Given the description of an element on the screen output the (x, y) to click on. 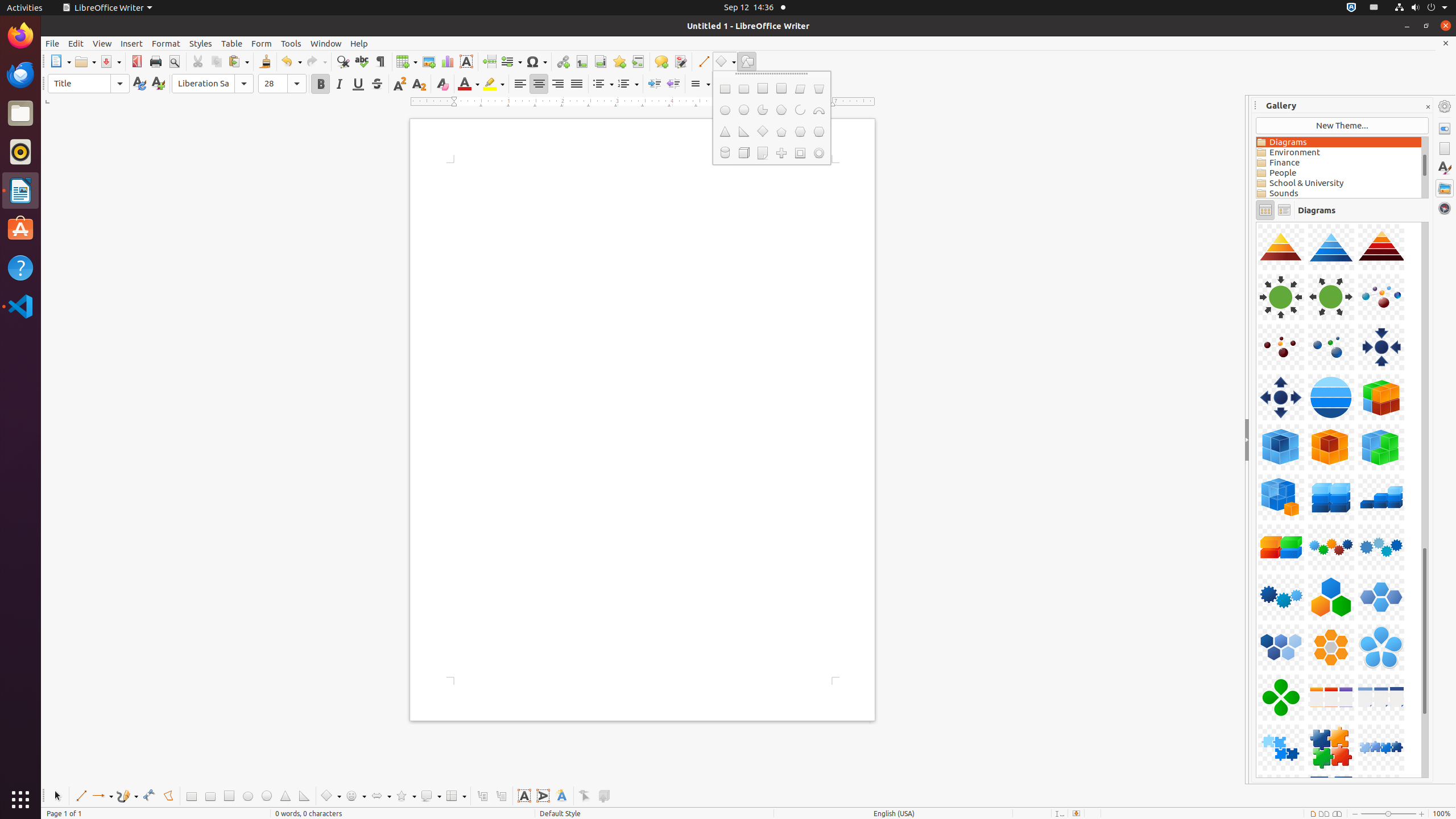
Cross Element type: toggle-button (780, 153)
Callout Shapes Element type: push-button (430, 795)
Component-Gear04-DarkRed Element type: list-item (1256, 222)
Isosceles Triangle Element type: toggle-button (724, 131)
Right Triangle Element type: toggle-button (743, 131)
